Given the description of an element on the screen output the (x, y) to click on. 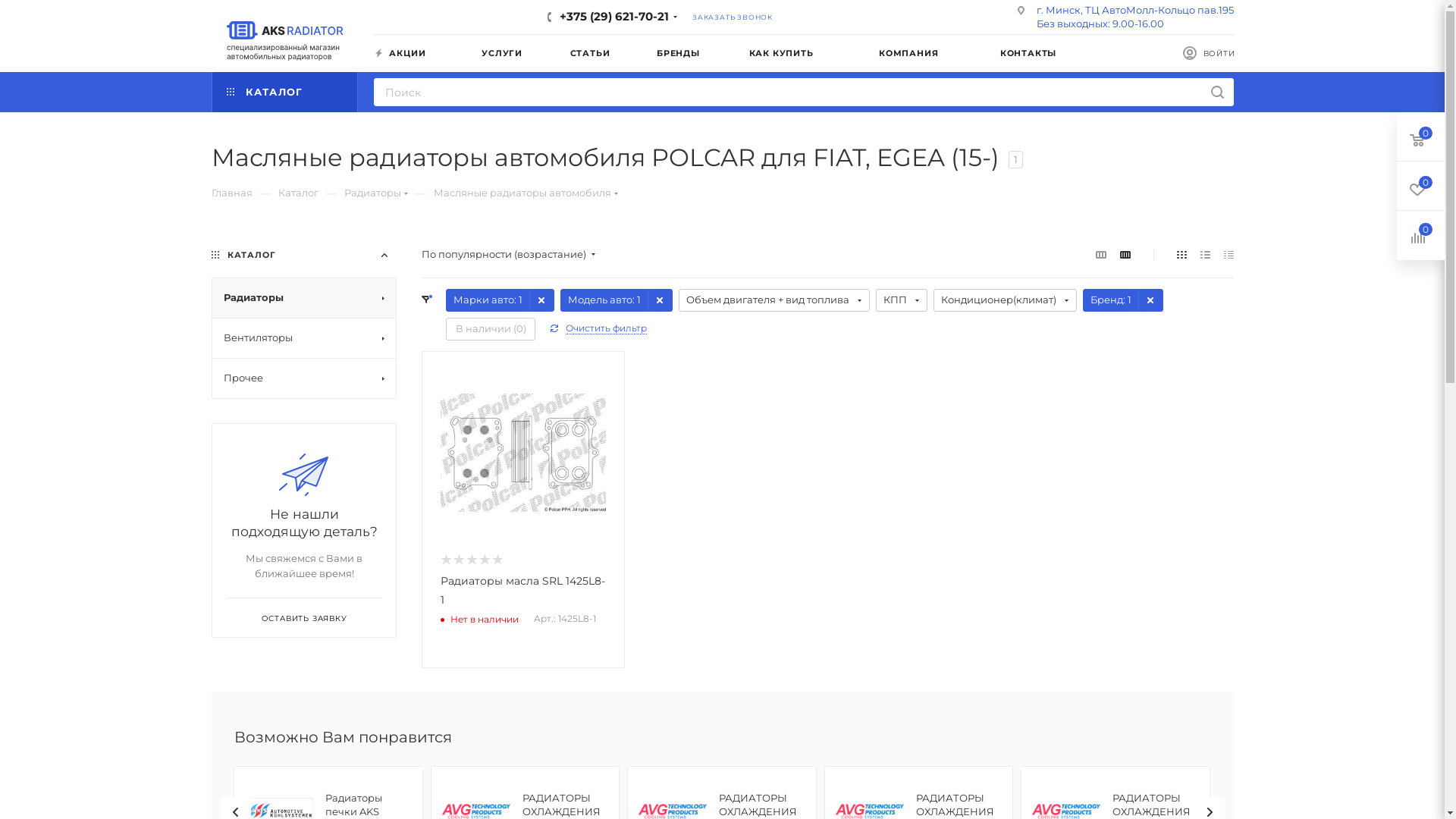
3 Element type: hover (470, 560)
2 Element type: hover (457, 560)
+375 (29) 621-70-21 Element type: text (613, 16)
Y Element type: text (4, 4)
4 Element type: hover (483, 560)
1 Element type: hover (444, 560)
5 Element type: hover (495, 560)
